Given the description of an element on the screen output the (x, y) to click on. 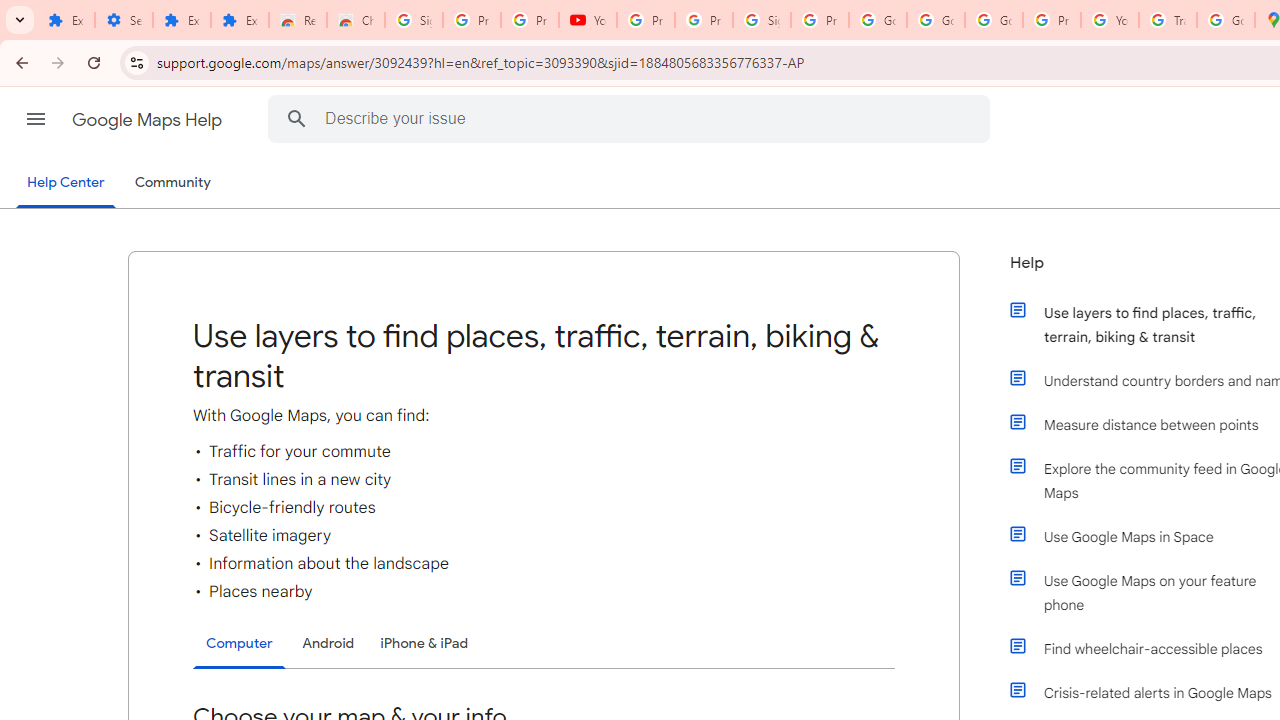
Search Help Center (297, 118)
Computer (239, 643)
Reviews: Helix Fruit Jump Arcade Game (297, 20)
Google Account (877, 20)
Google Maps Help (148, 119)
